Given the description of an element on the screen output the (x, y) to click on. 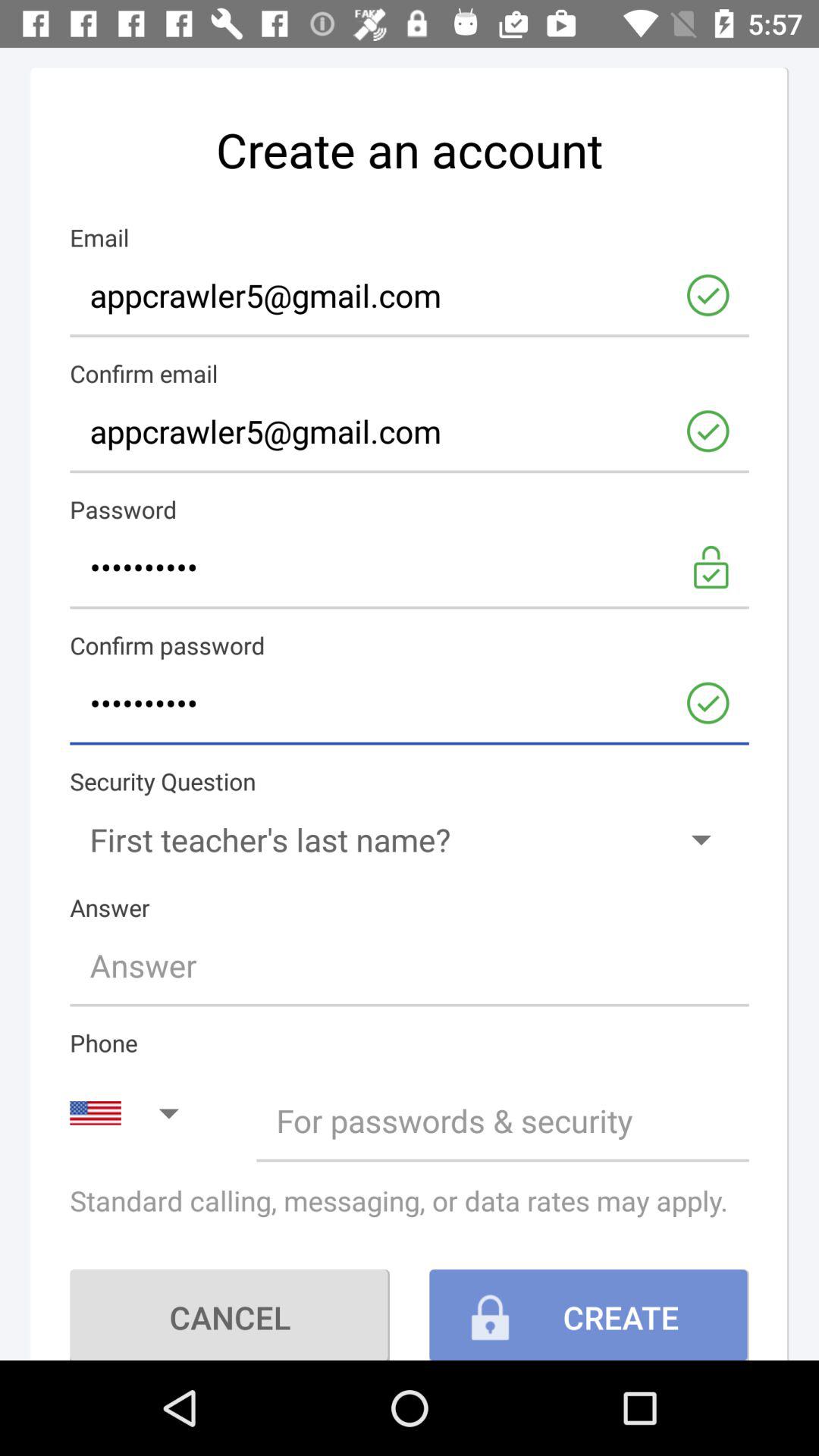
enter answer button (409, 964)
